Given the description of an element on the screen output the (x, y) to click on. 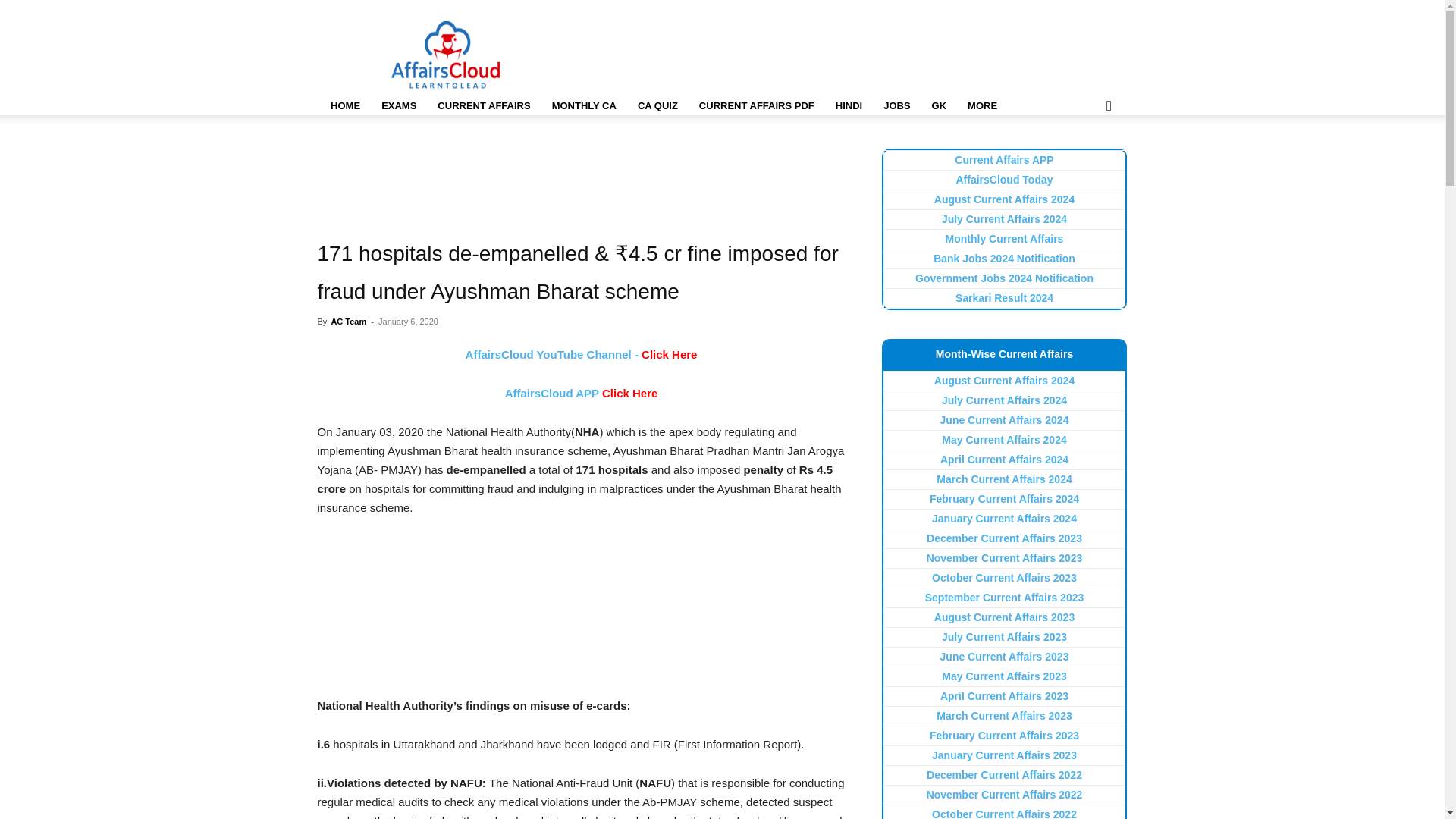
Current Affairs PDF (756, 105)
Current Affairs (483, 105)
Current Affairs Quiz (657, 105)
AffairsCloud (446, 55)
Home (344, 105)
Current Affairs Hindi (848, 105)
